Given the description of an element on the screen output the (x, y) to click on. 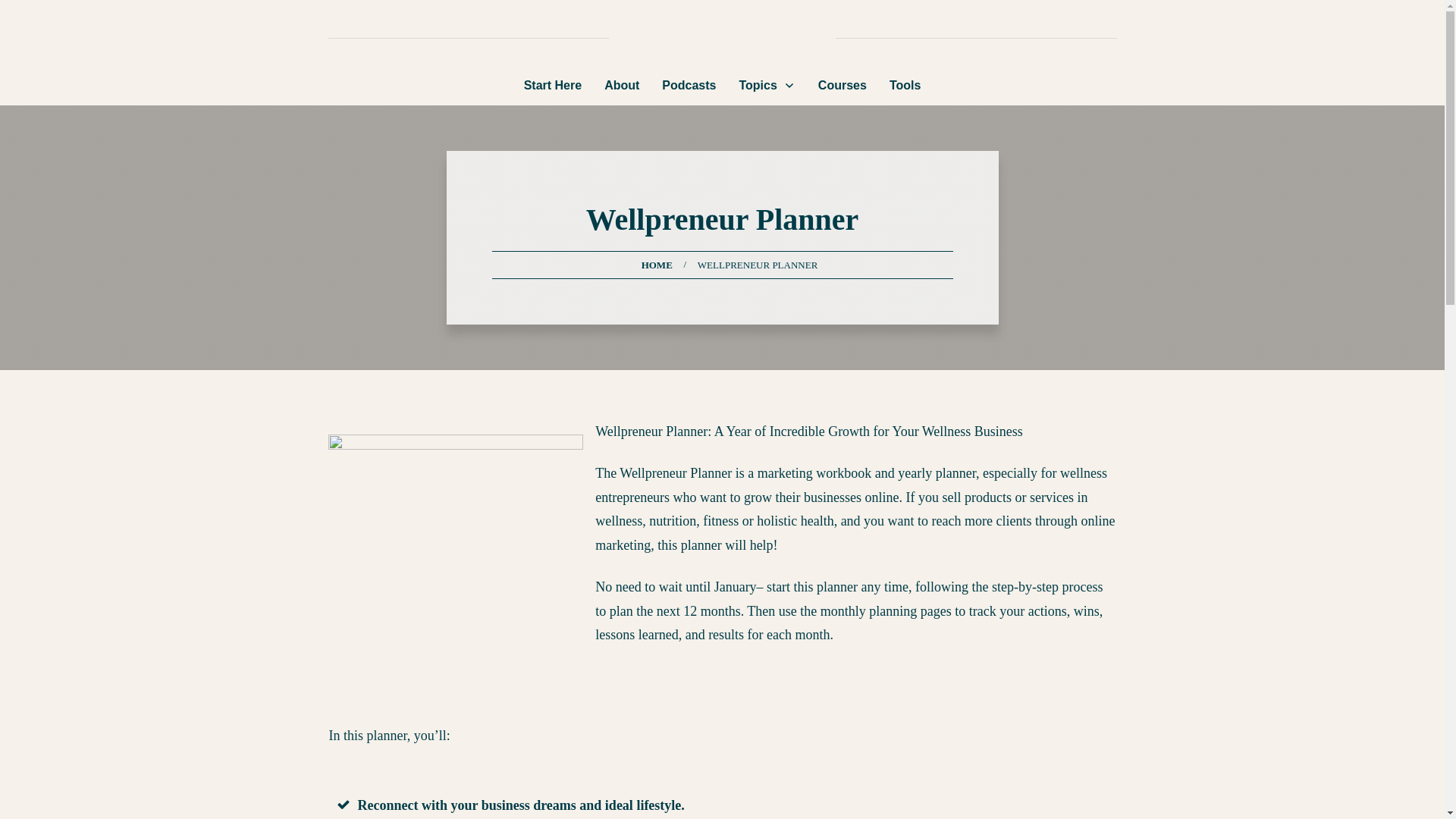
Tools (904, 84)
Topics (766, 84)
Start Here (552, 84)
Podcasts (689, 84)
HOME (657, 263)
About (621, 84)
Courses (842, 84)
